Given the description of an element on the screen output the (x, y) to click on. 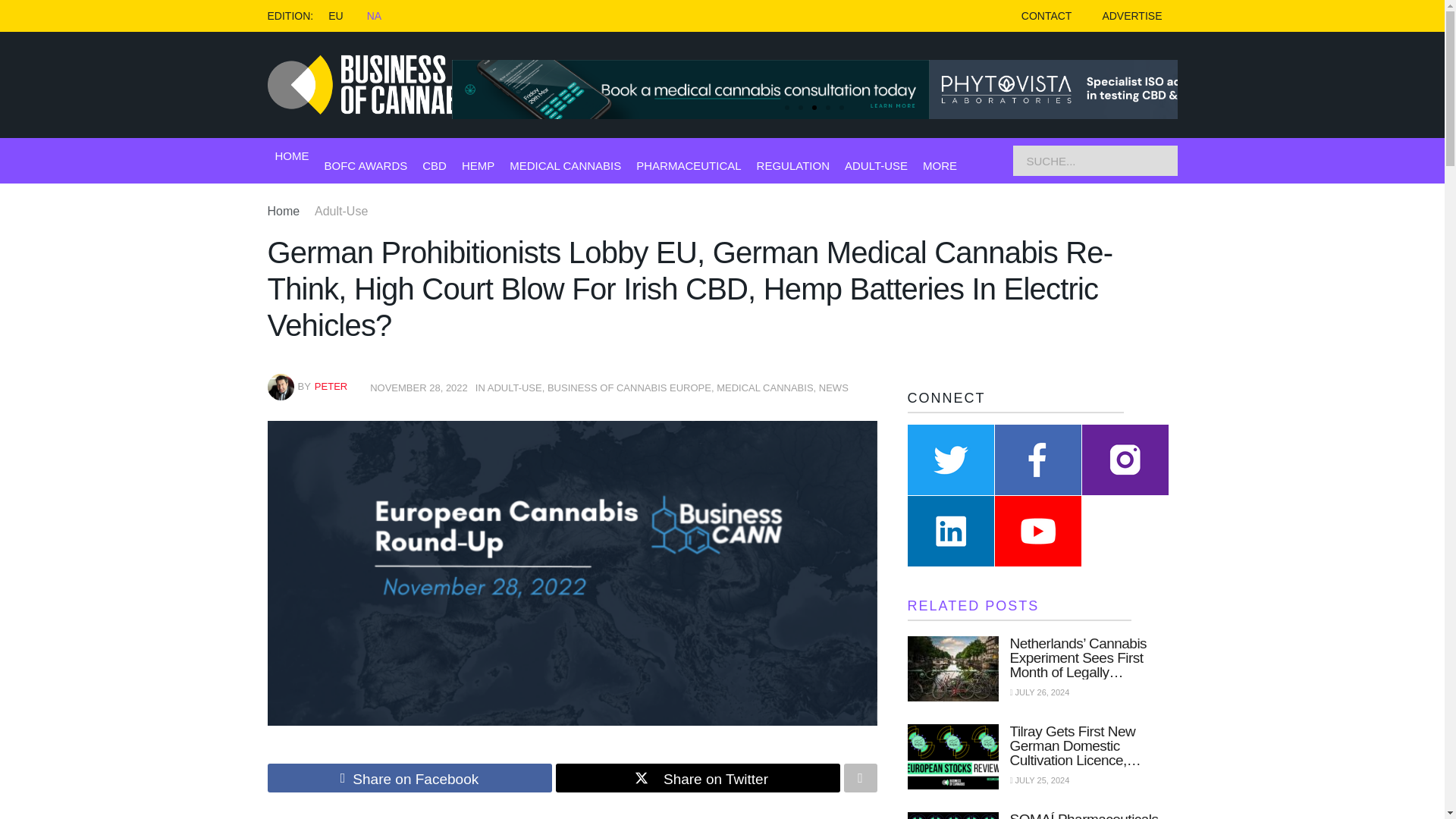
REGULATION (793, 165)
PHARMACEUTICAL (688, 165)
ADULT-USE (875, 165)
HEMP (478, 165)
MORE (939, 165)
BOFC AWARDS (365, 165)
MEDICAL CANNABIS (565, 165)
ADVERTISE (1131, 15)
CBD (434, 165)
HOME (291, 156)
CONTACT (1046, 15)
